Given the description of an element on the screen output the (x, y) to click on. 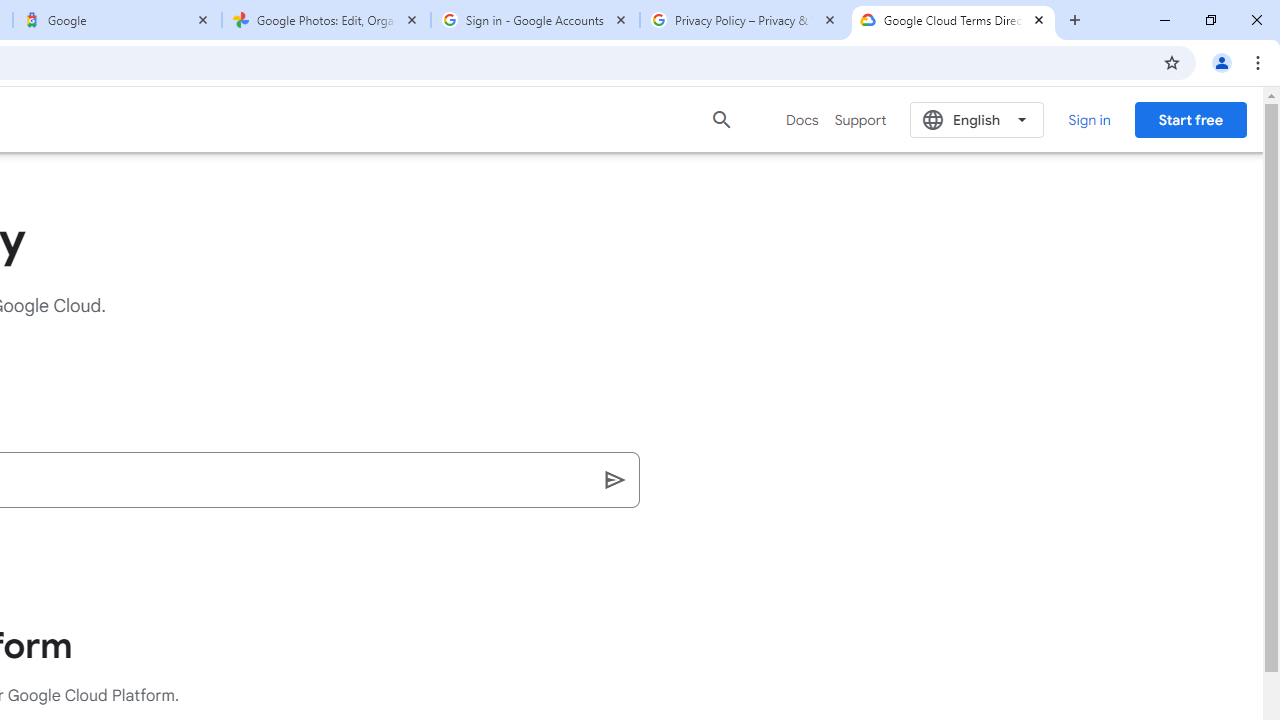
Google (116, 20)
Sign in - Google Accounts (535, 20)
Docs (802, 119)
Start free (1190, 119)
